Given the description of an element on the screen output the (x, y) to click on. 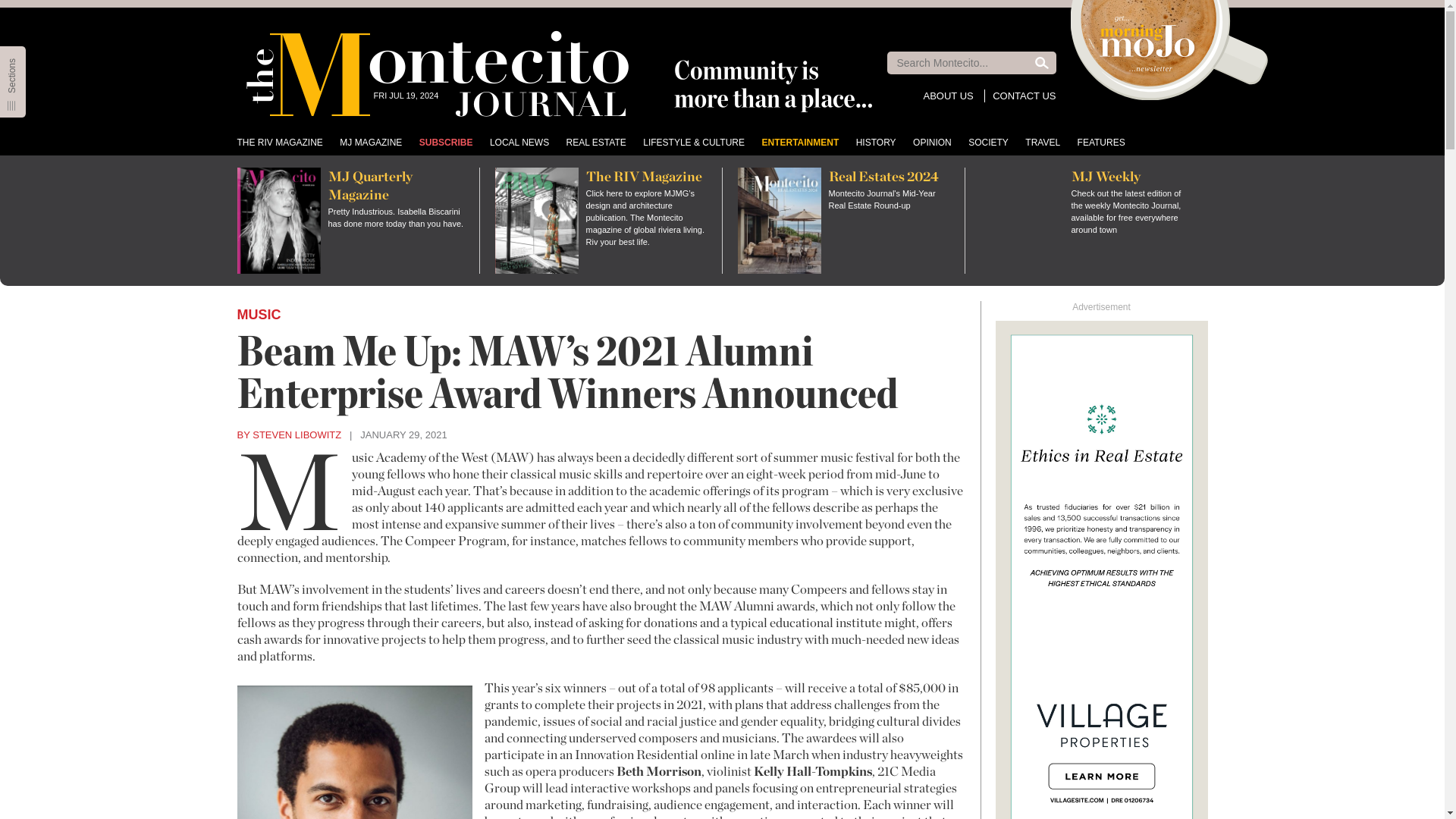
Steven Libowitz (287, 434)
